Given the description of an element on the screen output the (x, y) to click on. 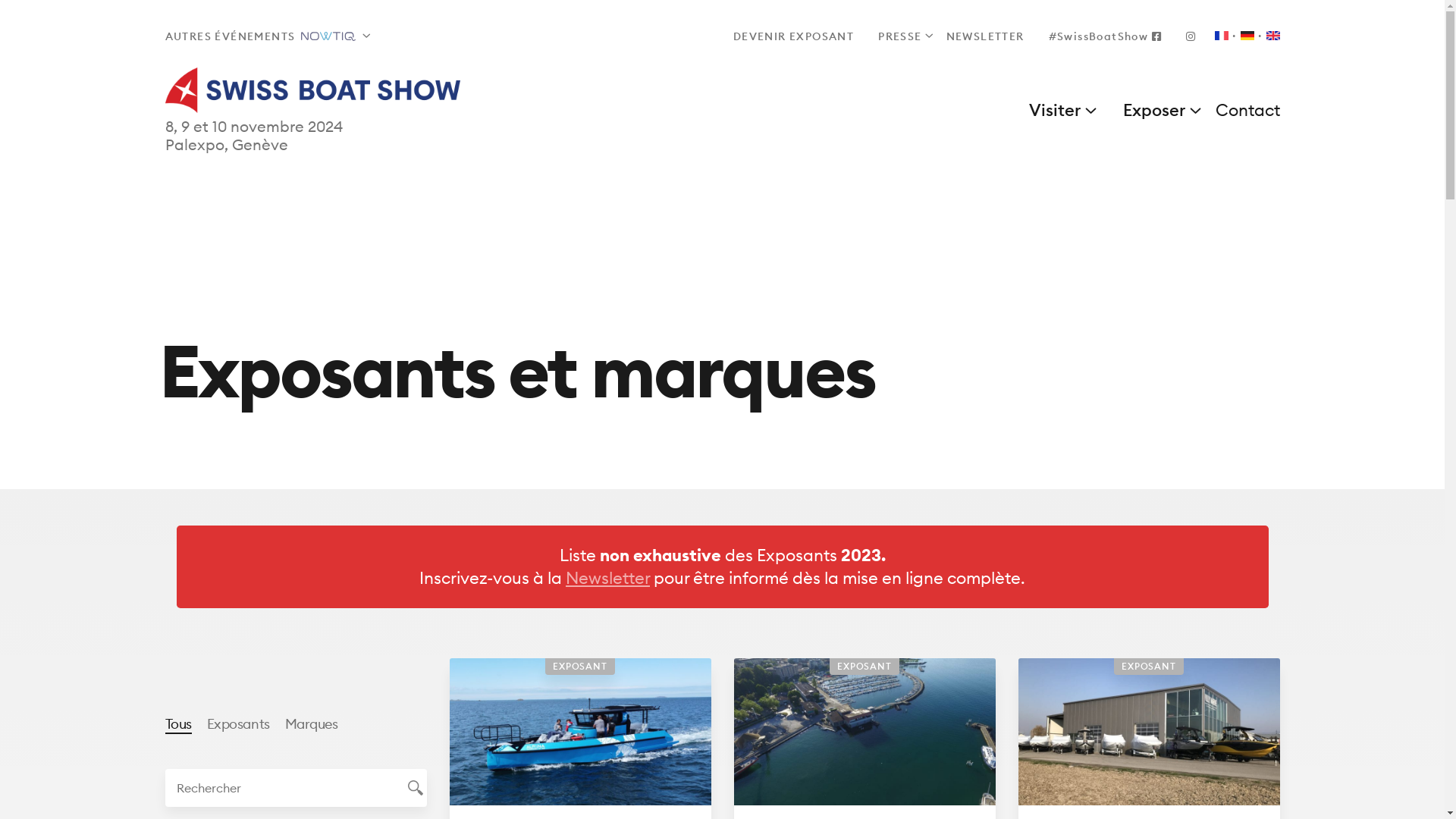
Tous Element type: text (178, 723)
Exposer Element type: text (1156, 109)
Marques Element type: text (311, 722)
Visiter Element type: text (1057, 109)
Contact Element type: text (1243, 109)
PRESSE Element type: text (899, 36)
Exposants Element type: text (238, 722)
#SwissBoatShow Element type: text (1104, 36)
DEVENIR EXPOSANT Element type: text (793, 36)
NEWSLETTER Element type: text (985, 36)
